Given the description of an element on the screen output the (x, y) to click on. 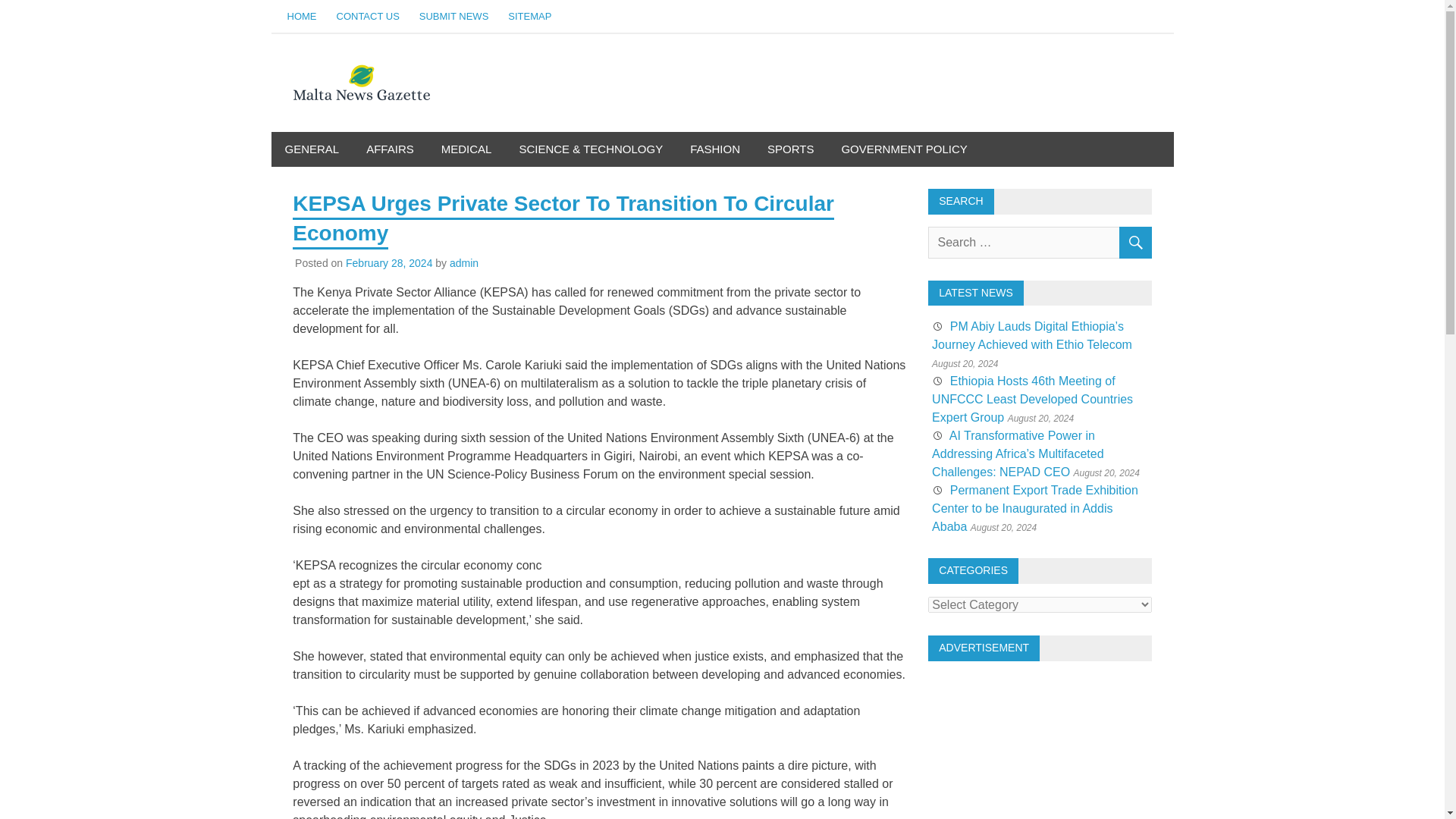
SUBMIT NEWS (454, 16)
admin (464, 263)
FASHION (715, 149)
View all posts by admin (464, 263)
HOME (302, 16)
SPORTS (790, 149)
CONTACT US (367, 16)
AFFAIRS (390, 149)
February 28, 2024 (389, 263)
